Given the description of an element on the screen output the (x, y) to click on. 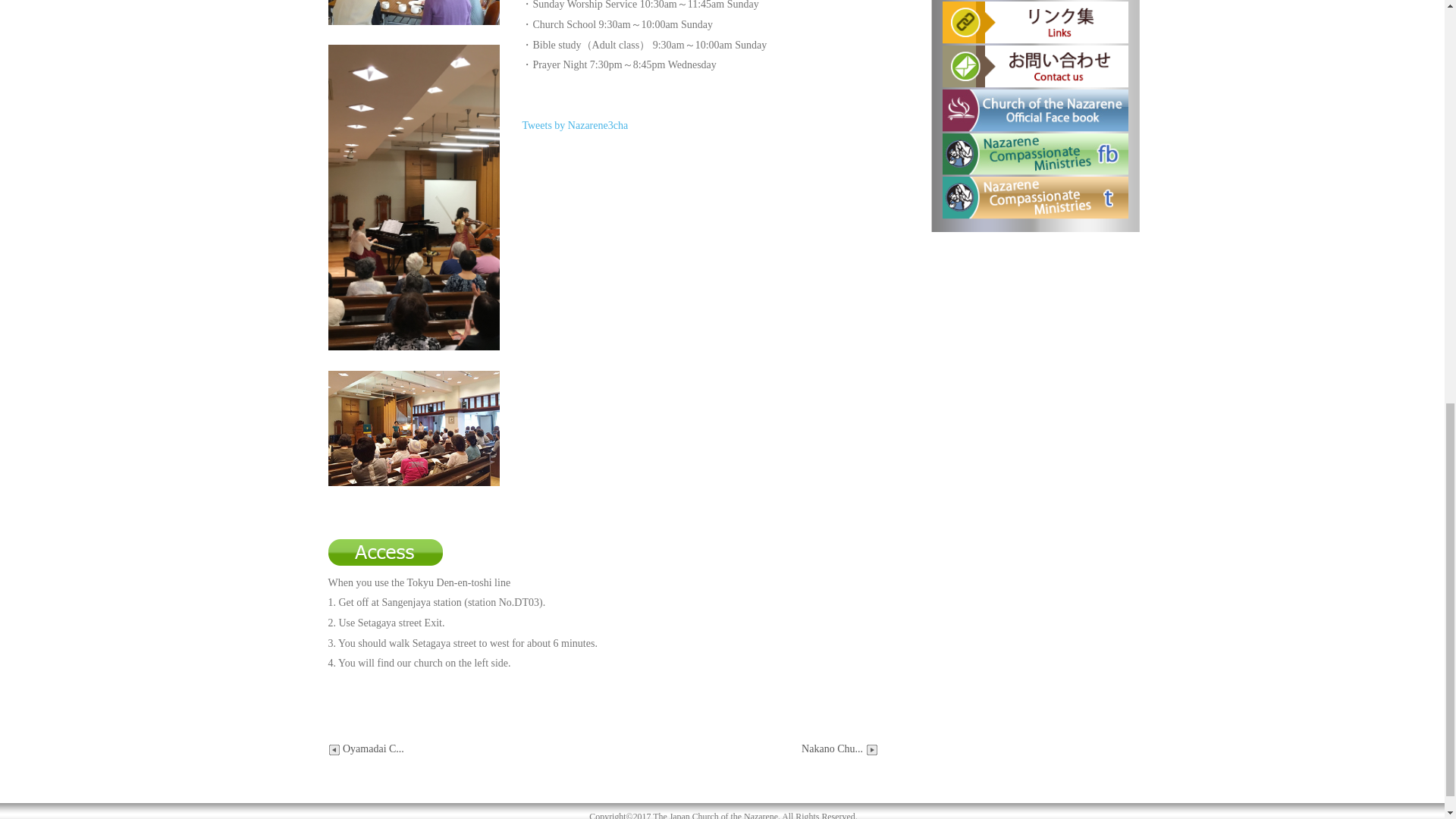
Oyamadai C... (365, 748)
Tweets by Nazarene3cha (574, 125)
Nakano Chu... (839, 748)
